Given the description of an element on the screen output the (x, y) to click on. 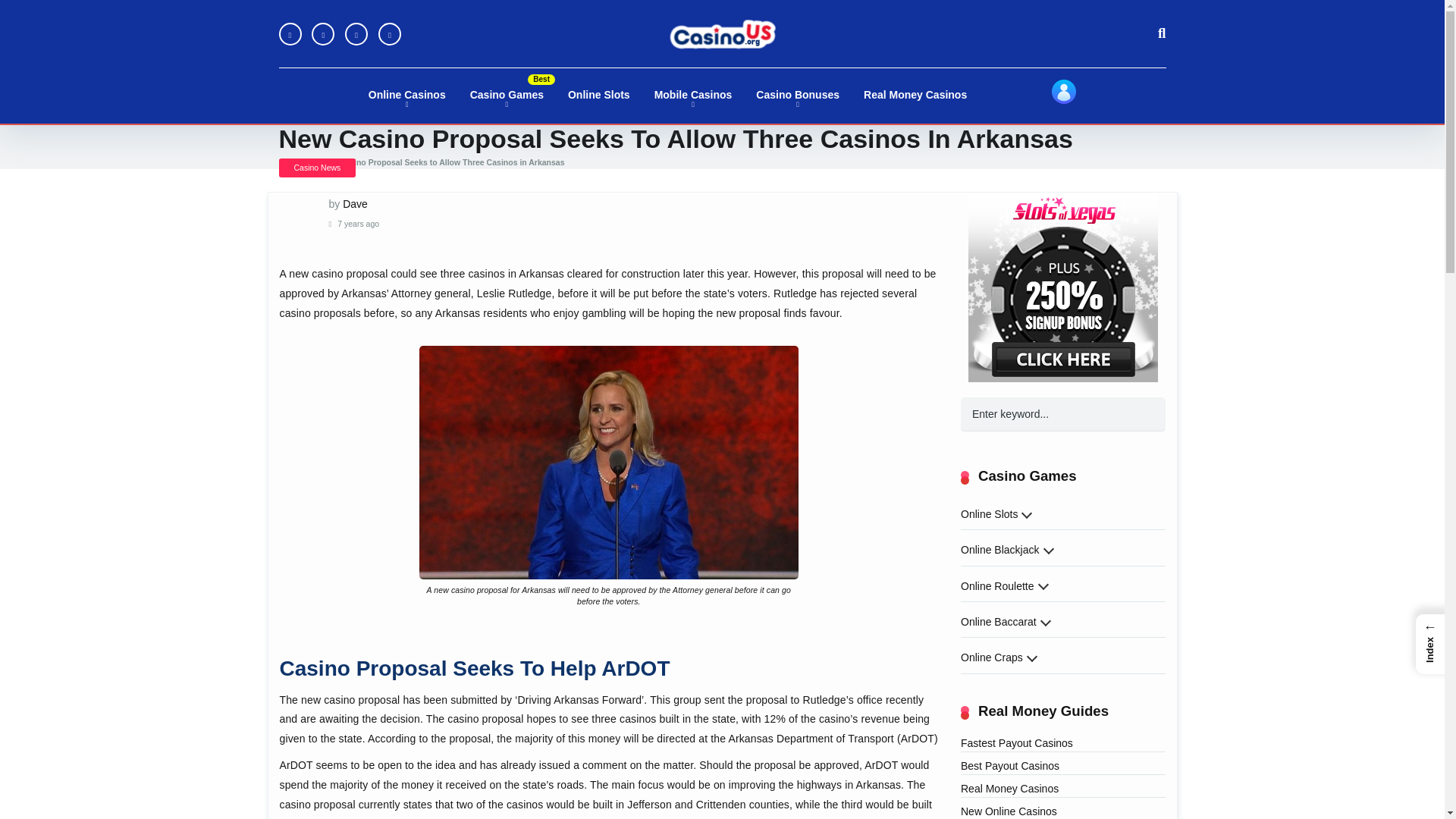
Facebook (290, 33)
Online Casinos (407, 95)
Twitter (322, 33)
Mobile Casinos (693, 95)
Best Online Casinos USA - US Online Gambling Sites (721, 33)
Casino News (317, 167)
Instagram (356, 33)
Casino Bonuses (797, 95)
Dave (355, 203)
Slots of Vegas Casino for American Players (1062, 287)
Real Money Casinos (914, 95)
Casino Games (507, 95)
Posts by Dave (355, 203)
Website (389, 33)
Home (292, 162)
